Given the description of an element on the screen output the (x, y) to click on. 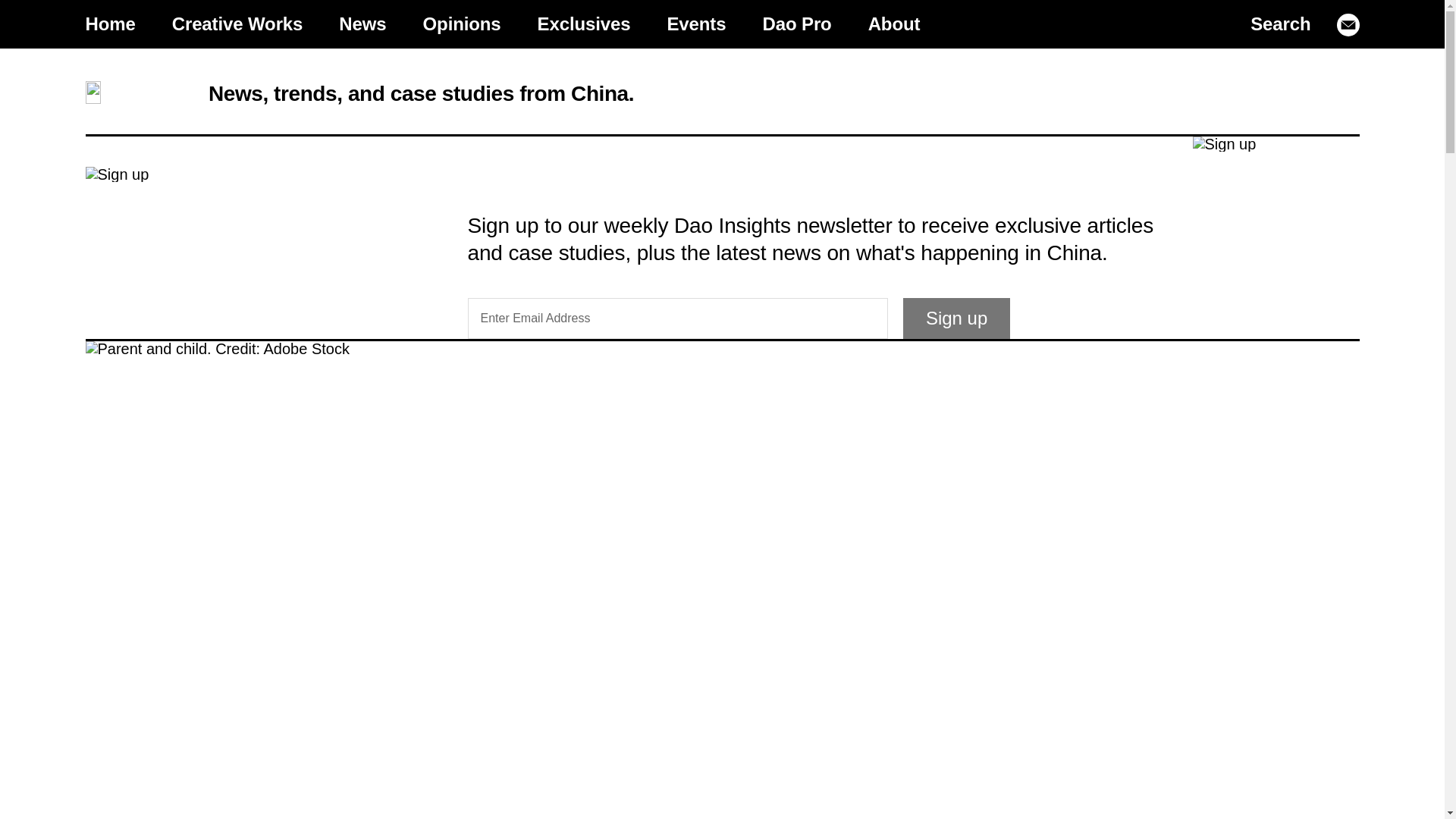
Sign up (956, 318)
Sign up (956, 318)
Search (1279, 24)
News (362, 24)
Events (695, 24)
Dao Pro (796, 24)
Opinions (461, 24)
About (894, 24)
Exclusives (584, 24)
Dao Insights (130, 92)
Creative Works (237, 24)
Home (109, 24)
